Given the description of an element on the screen output the (x, y) to click on. 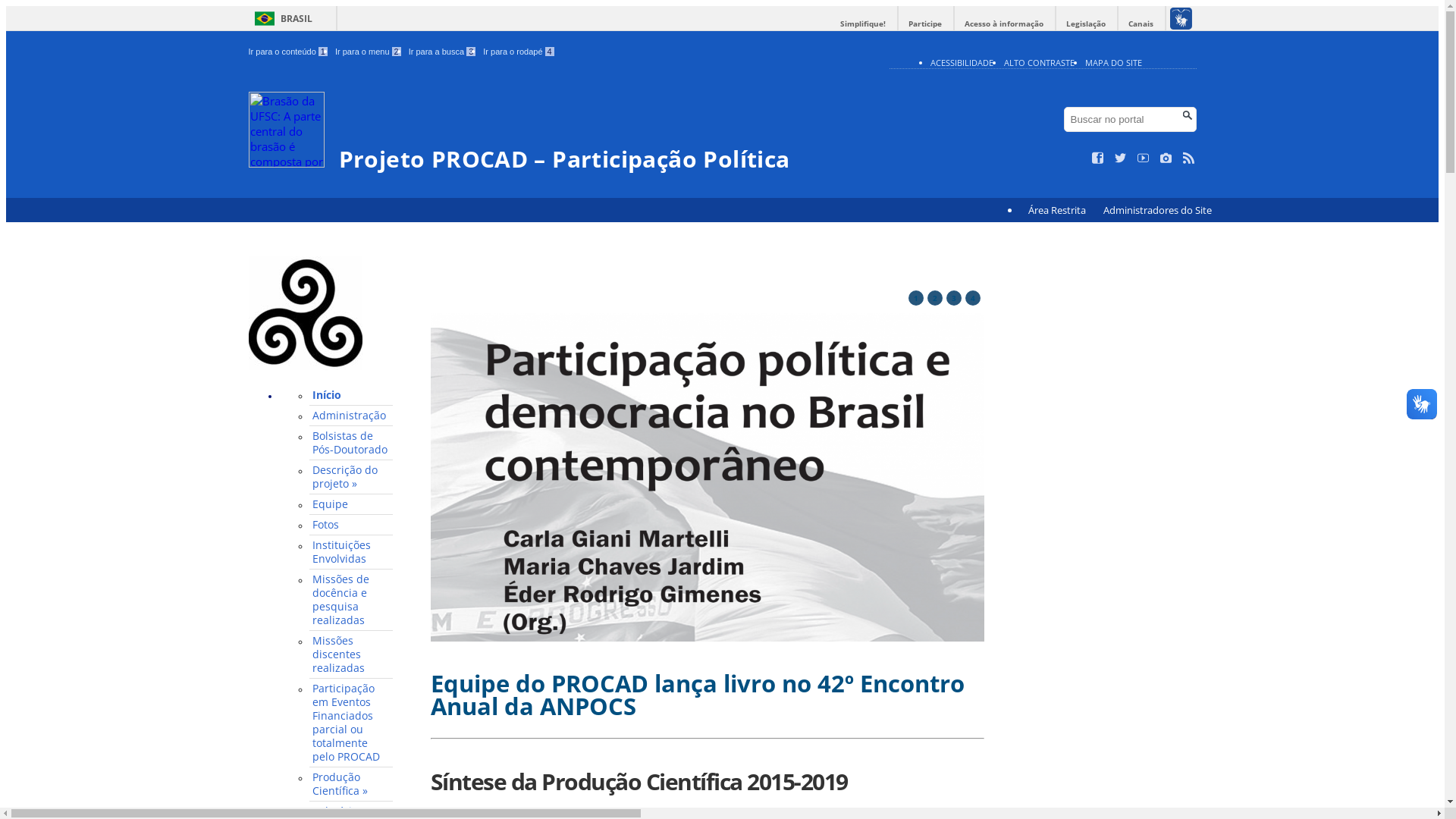
Participe Element type: text (924, 24)
3 Element type: text (953, 297)
2 Element type: text (933, 297)
MAPA DO SITE Element type: text (1112, 62)
Veja no Instagram Element type: hover (1166, 158)
Curta no Facebook Element type: hover (1098, 158)
BRASIL Element type: text (280, 18)
Siga no Twitter Element type: hover (1120, 158)
ALTO CONTRASTE Element type: text (1039, 62)
Canais Element type: text (1140, 24)
ACESSIBILIDADE Element type: text (960, 62)
1 Element type: text (915, 297)
Simplifique! Element type: text (862, 24)
Equipe Element type: text (350, 504)
Administradores do Site Element type: text (1156, 209)
Ir para o menu 2 Element type: text (368, 51)
Fotos Element type: text (350, 524)
4 Element type: text (971, 297)
Ir para a busca 3 Element type: text (442, 51)
